Given the description of an element on the screen output the (x, y) to click on. 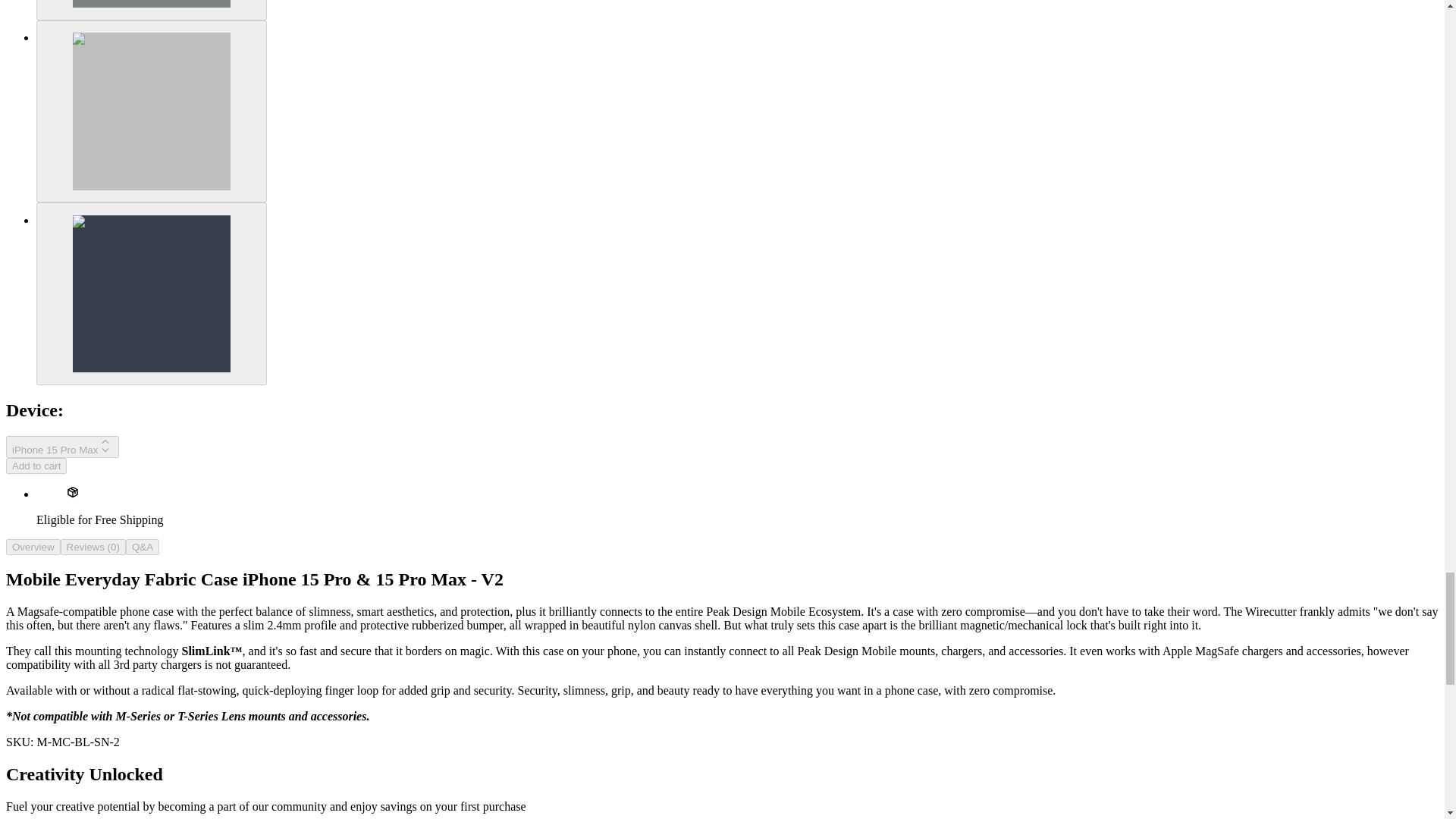
iPhone 15 Pro Max (62, 446)
Add to cart (35, 465)
Overview (33, 546)
